Given the description of an element on the screen output the (x, y) to click on. 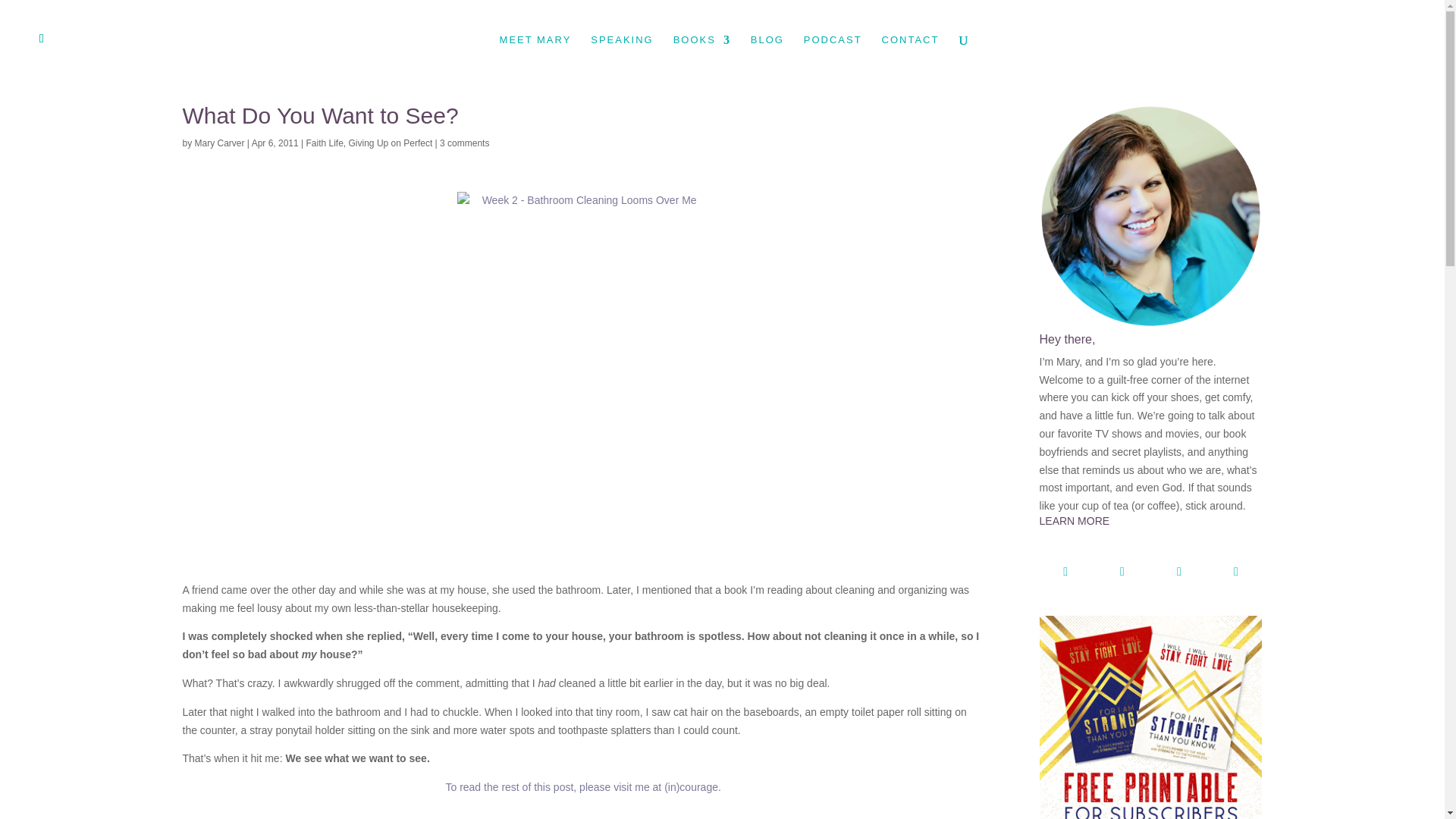
LEARN MORE (1150, 532)
Mary Carver (219, 143)
3 comments (464, 143)
MEET MARY (535, 57)
Giving Up on Perfect (390, 143)
CONTACT (910, 57)
PODCAST (832, 57)
BLOG (767, 57)
BOOKS (701, 57)
Posts by Mary Carver (219, 143)
Faith Life (324, 143)
SPEAKING (621, 57)
